Given the description of an element on the screen output the (x, y) to click on. 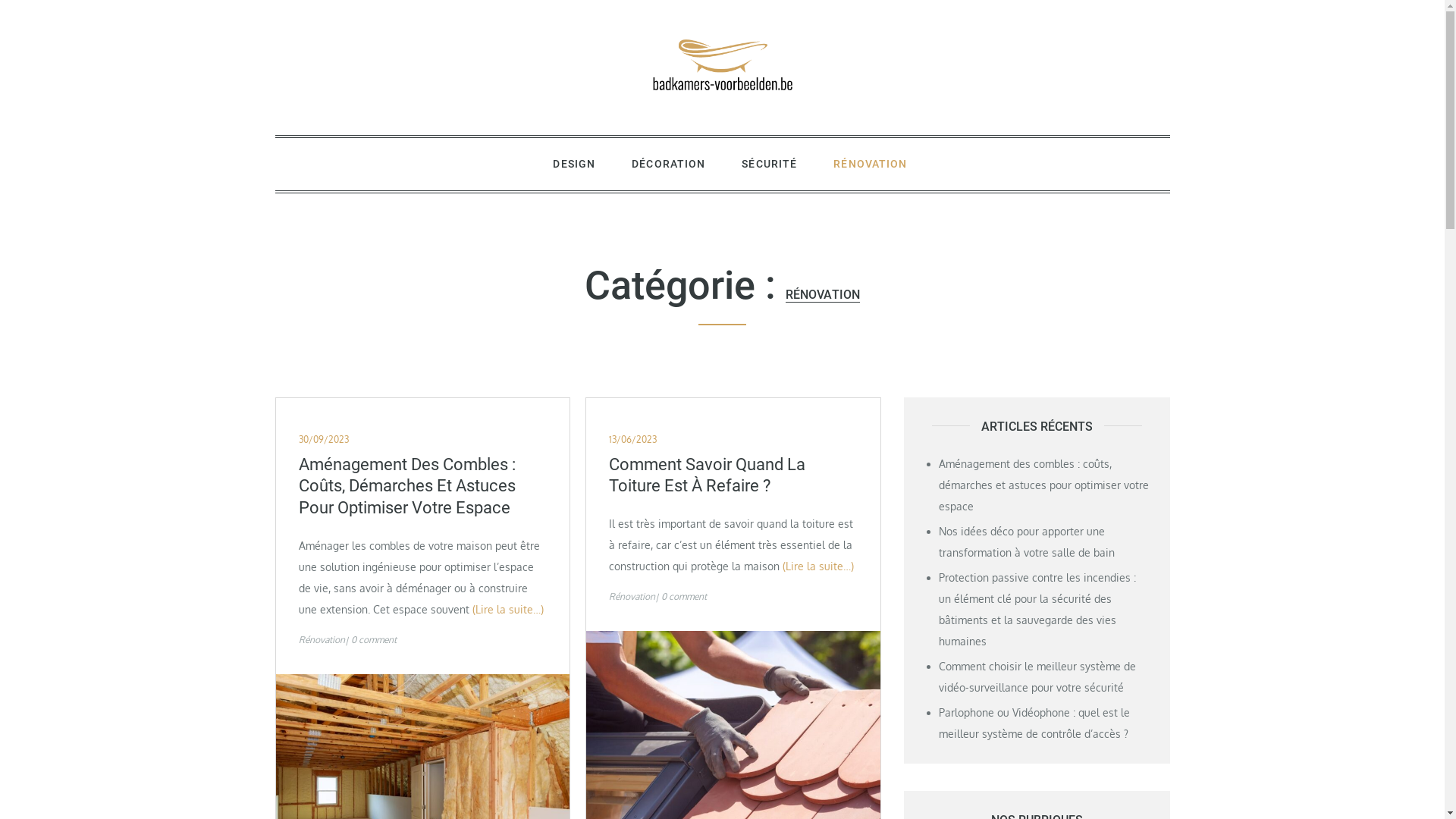
0 comment Element type: text (683, 596)
30/09/2023 Element type: text (323, 439)
DESIGN Element type: text (573, 164)
badkamers-voorbeelden.be Element type: text (422, 128)
0 comment Element type: text (372, 639)
13/06/2023 Element type: text (632, 439)
